Given the description of an element on the screen output the (x, y) to click on. 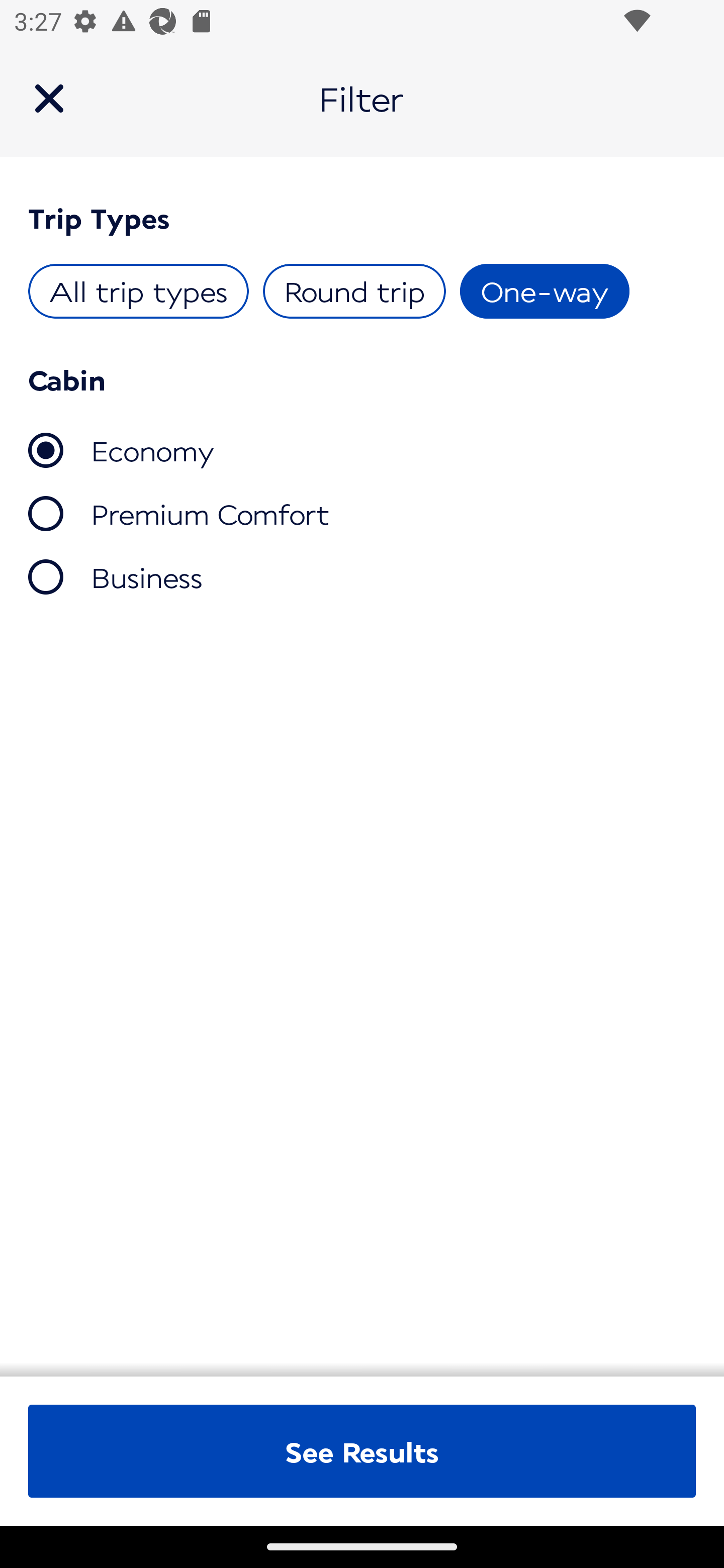
All trip types (138, 291)
Round trip (353, 291)
One-way (544, 291)
See Results (361, 1450)
